Given the description of an element on the screen output the (x, y) to click on. 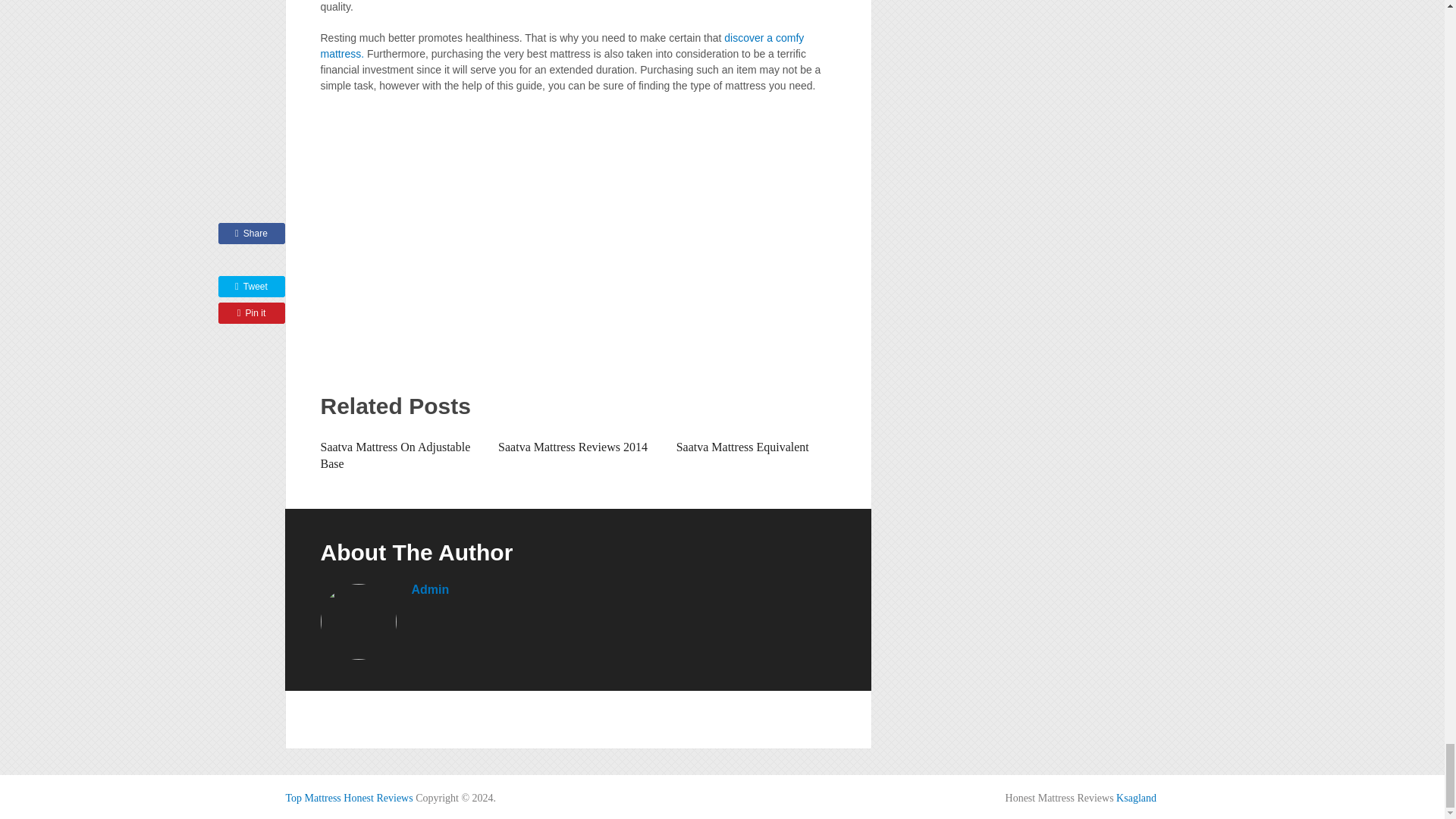
 Top Mattress Best Deals (348, 797)
Saatva Mattress Reviews 2014 (572, 446)
Saatva Mattress On Adjustable Base (395, 455)
Saatva Mattress Equivalent (743, 446)
